Given the description of an element on the screen output the (x, y) to click on. 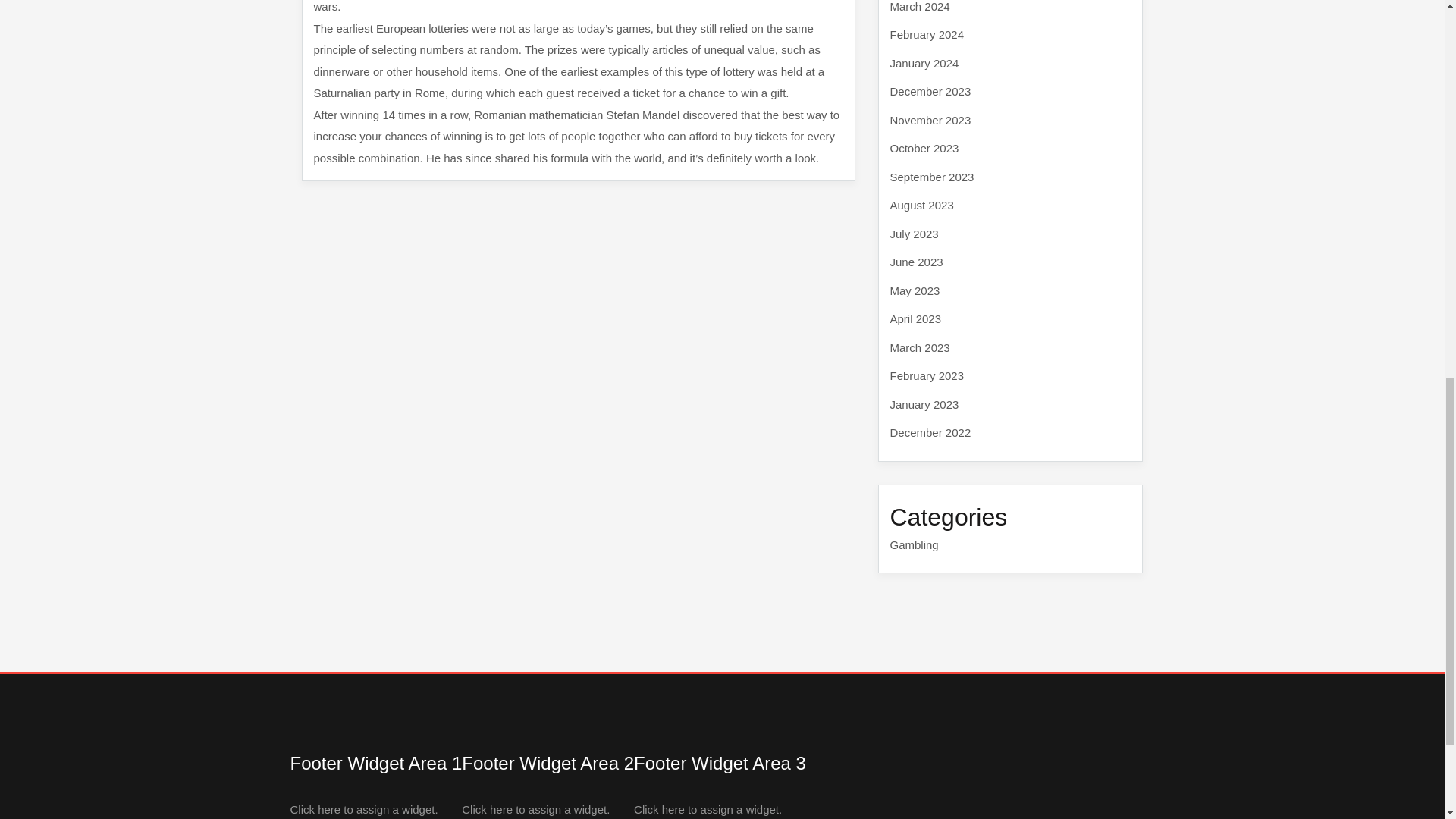
Click here to assign a widget. (707, 809)
August 2023 (921, 205)
February 2023 (926, 375)
October 2023 (924, 147)
March 2023 (919, 347)
May 2023 (914, 289)
Gambling (914, 544)
January 2024 (924, 62)
Click here to assign a widget. (535, 809)
March 2024 (919, 6)
November 2023 (930, 119)
Click here to assign a widget. (363, 809)
December 2023 (930, 91)
July 2023 (914, 233)
September 2023 (931, 175)
